Given the description of an element on the screen output the (x, y) to click on. 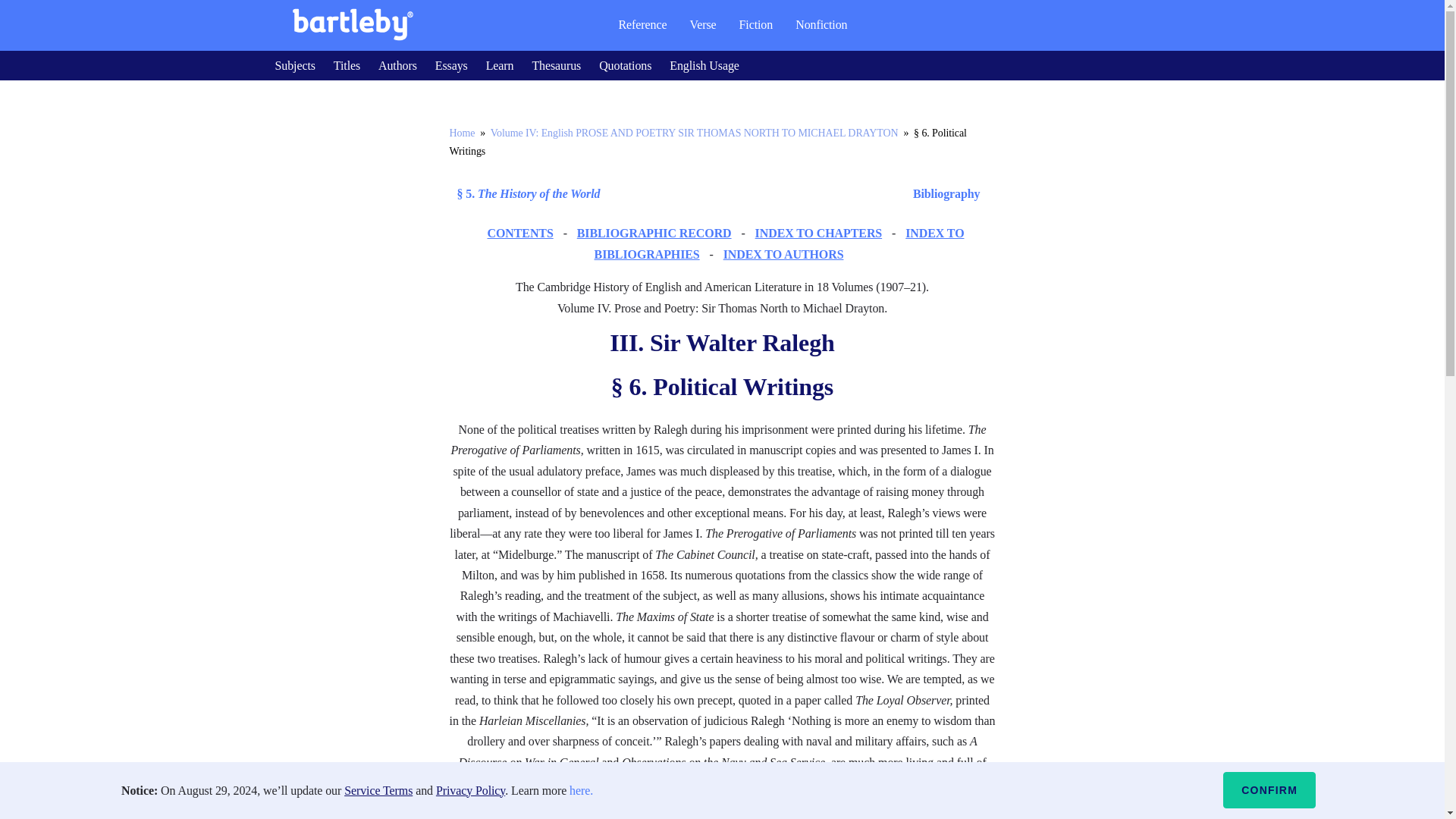
Essays (451, 65)
CONTENTS (519, 232)
Learn (499, 65)
Home (461, 132)
Authors (397, 65)
Subjects (294, 65)
INDEX TO CHAPTERS (818, 232)
Reference (642, 24)
Nonfiction (821, 24)
Verse (702, 24)
